Given the description of an element on the screen output the (x, y) to click on. 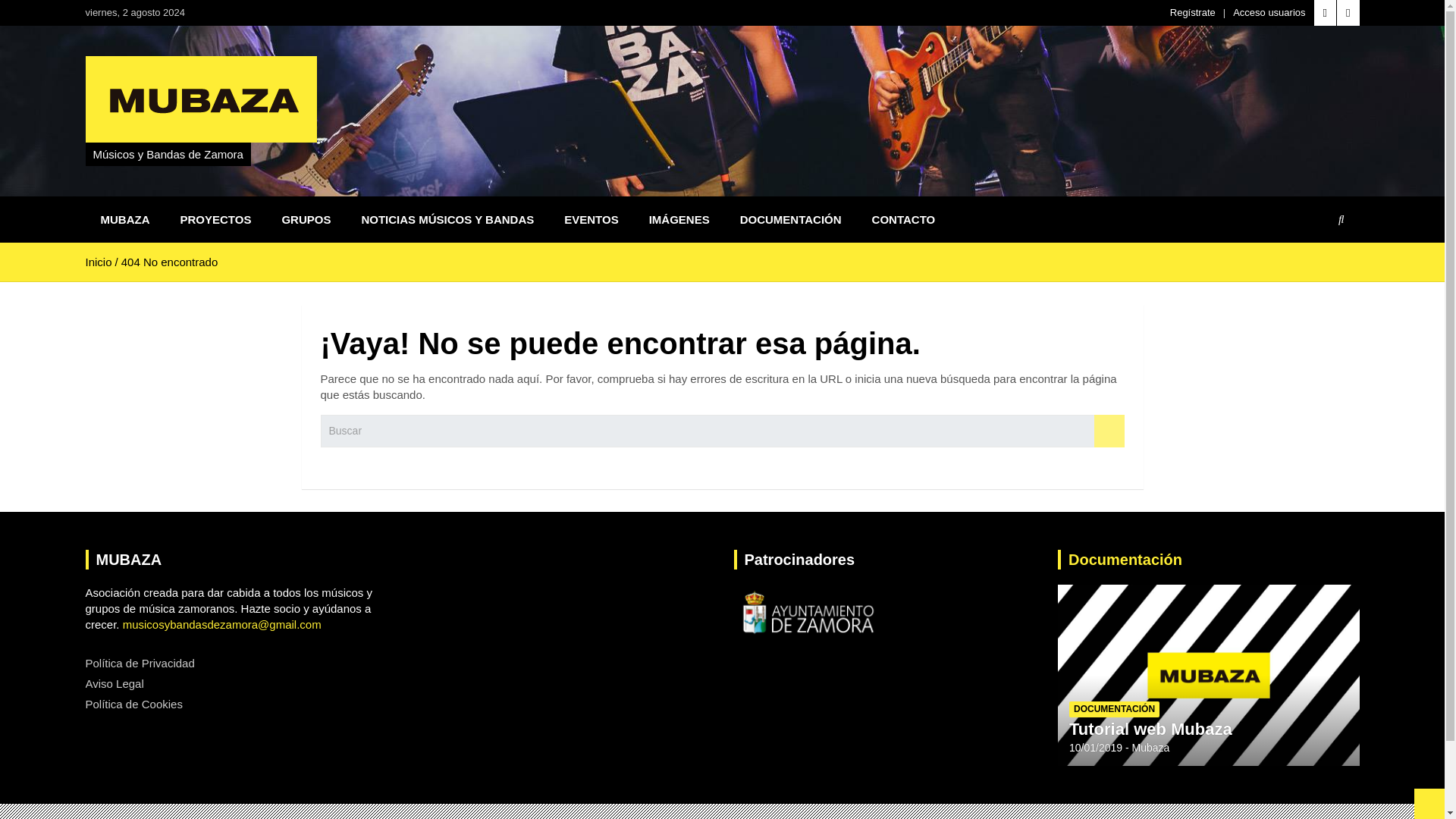
Buscar (1108, 430)
PROYECTOS (215, 219)
CONTACTO (903, 219)
Tutorial web Mubaza (1095, 747)
MUBAZA (124, 219)
Inicio (98, 261)
Acceso usuarios (1268, 12)
EVENTOS (590, 219)
GRUPOS (306, 219)
Tutorial web Mubaza (1149, 728)
